Given the description of an element on the screen output the (x, y) to click on. 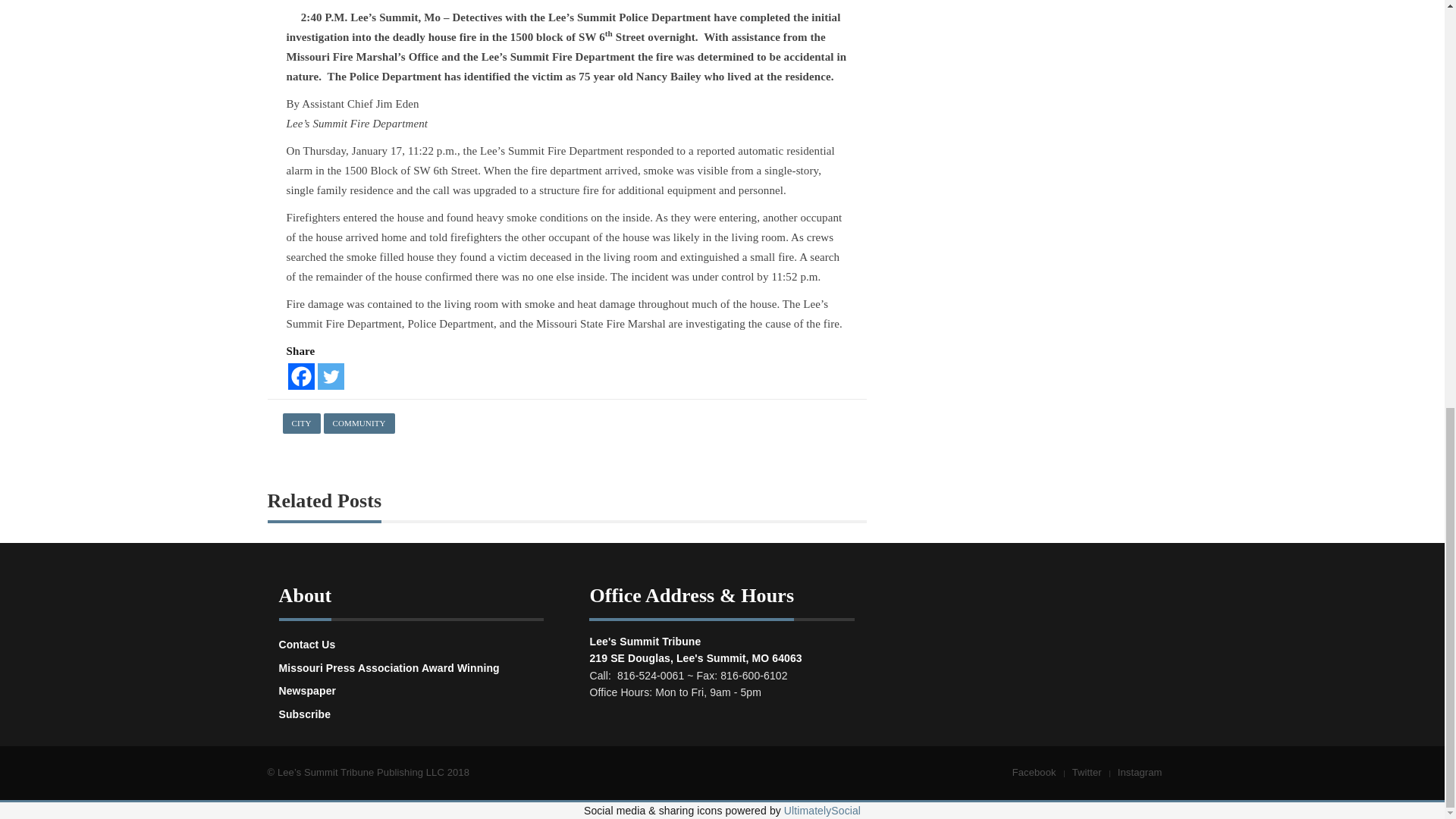
CITY (301, 423)
Facebook (301, 376)
Twitter (330, 376)
COMMUNITY (358, 423)
